Given the description of an element on the screen output the (x, y) to click on. 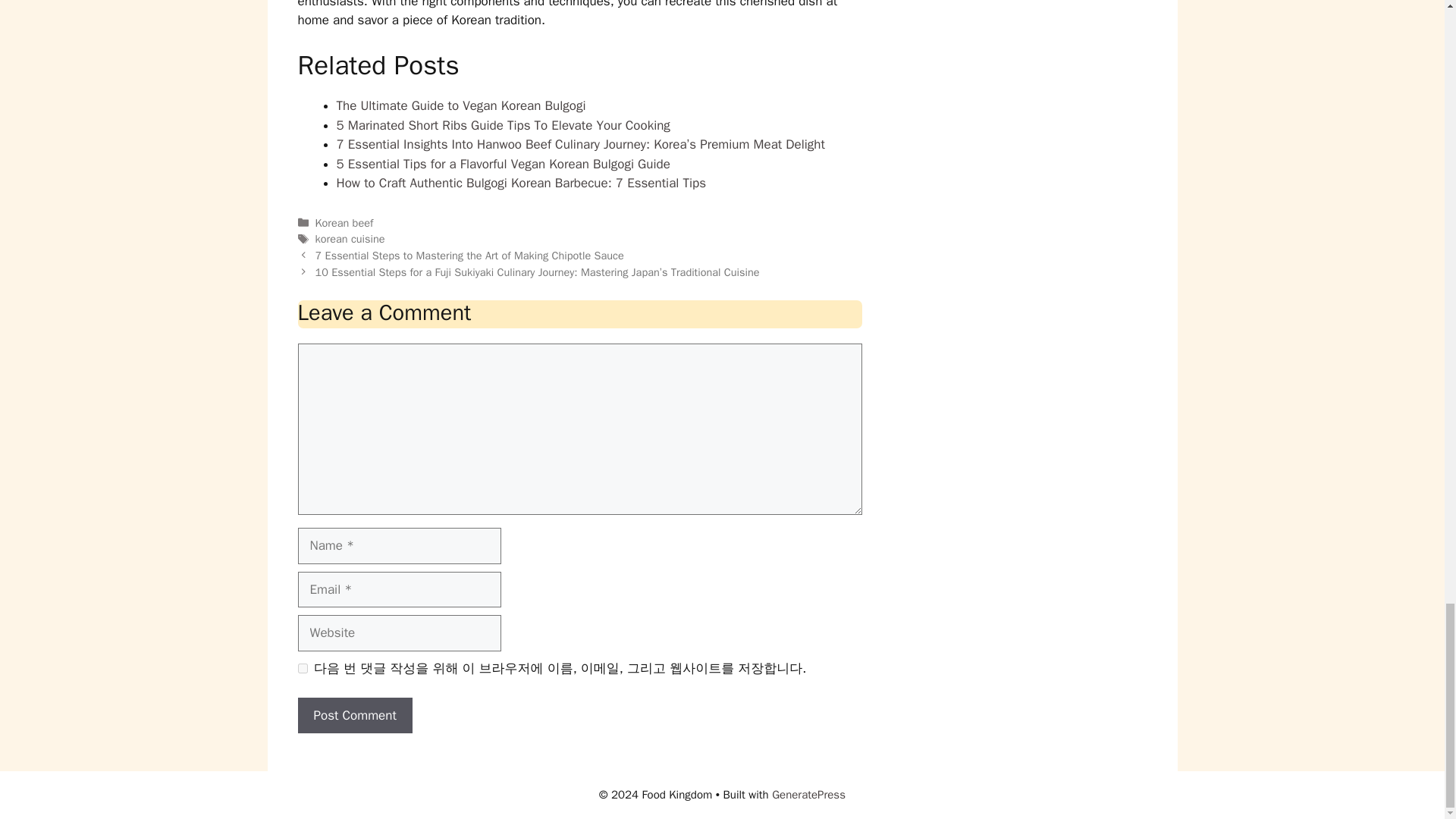
Korean beef (344, 223)
yes (302, 668)
Post Comment (354, 715)
5 Essential Tips for a Flavorful Vegan Korean Bulgogi Guide (502, 163)
5 Marinated Short Ribs Guide Tips To Elevate Your Cooking (502, 125)
Post Comment (354, 715)
korean cuisine (350, 238)
The Ultimate Guide to Vegan Korean Bulgogi (461, 105)
